Given the description of an element on the screen output the (x, y) to click on. 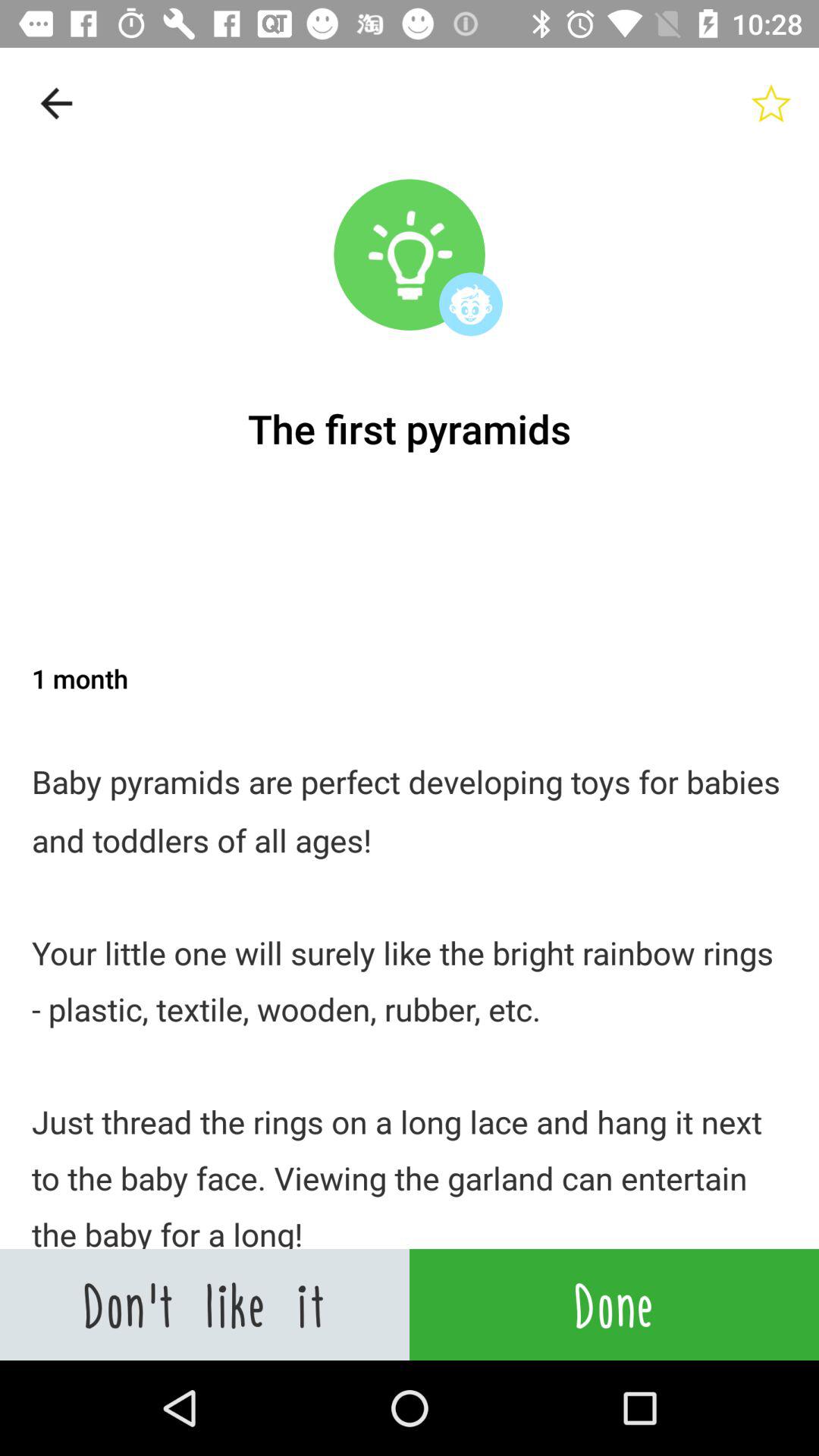
turn off done at the bottom right corner (614, 1304)
